Given the description of an element on the screen output the (x, y) to click on. 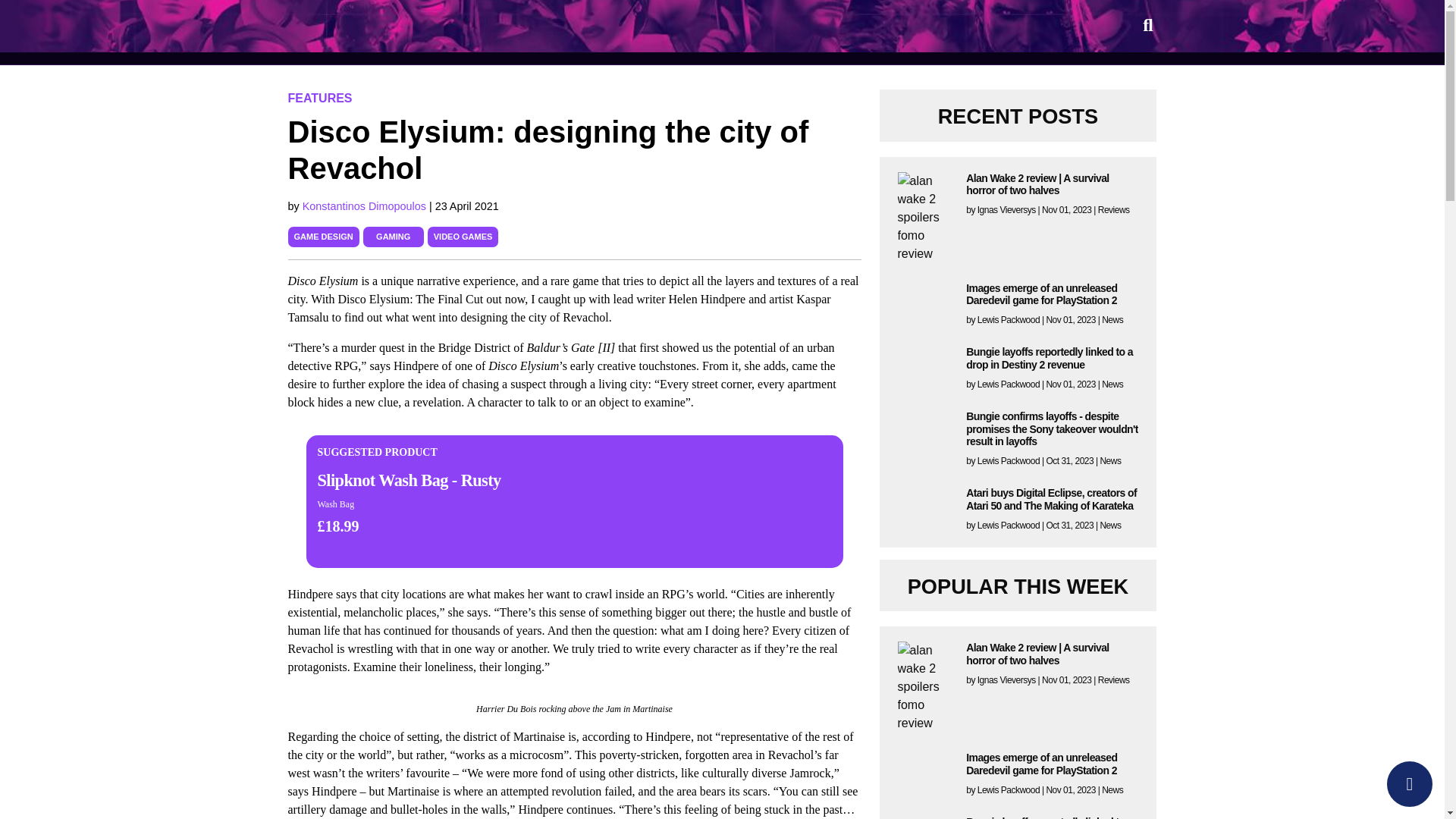
Lewis Packwood (1007, 384)
Konstantinos Dimopoulos (365, 205)
Reviews (1113, 679)
Lewis Packwood (1007, 460)
video games (463, 235)
FEATURES (320, 97)
Game design (323, 235)
News (1110, 525)
Reviews (1113, 209)
Gaming (392, 235)
Slipknot Wash Bag - Rusty (408, 480)
